Given the description of an element on the screen output the (x, y) to click on. 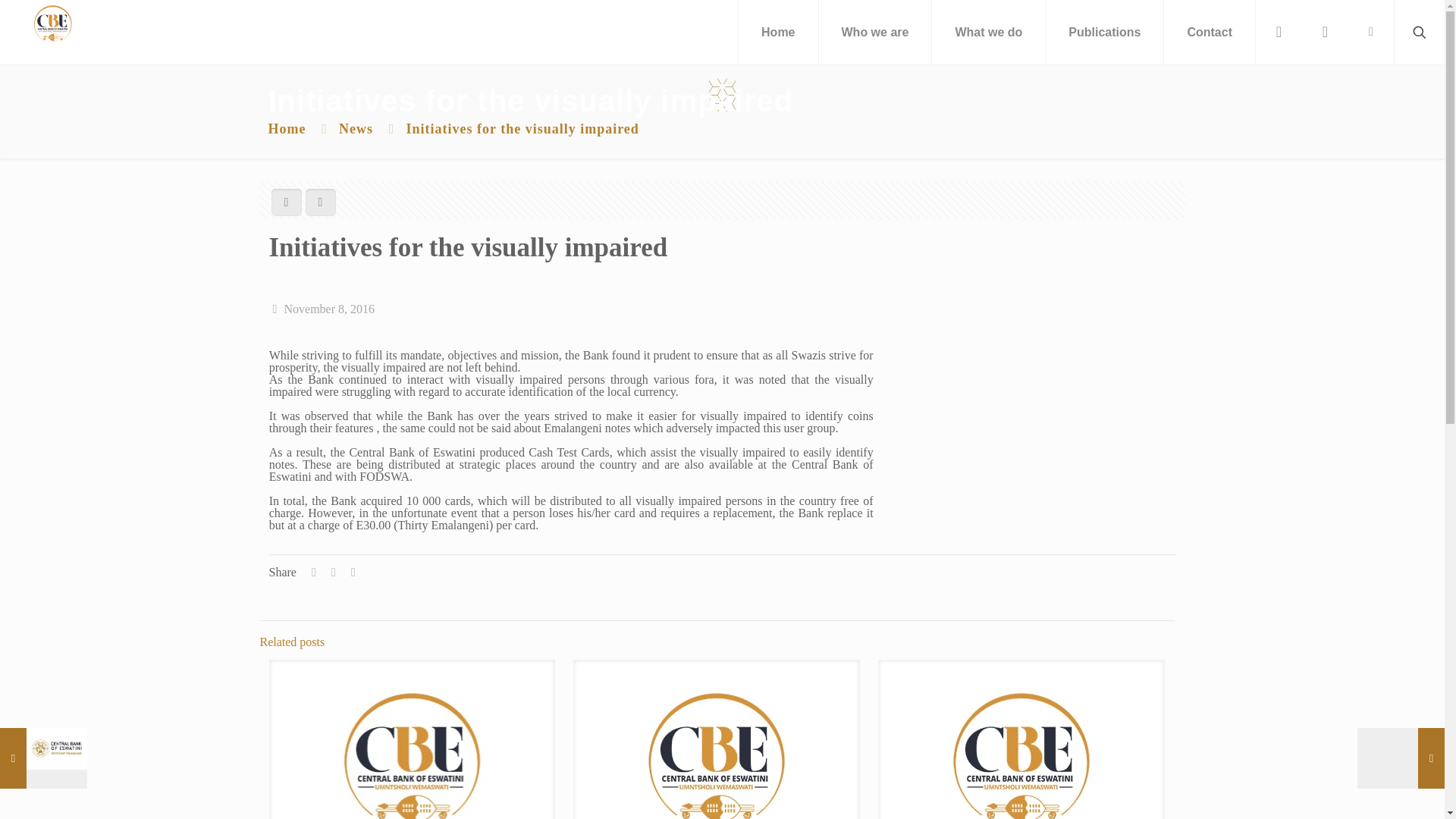
Who we are (875, 32)
Publications (1104, 32)
What we do (988, 32)
Home (778, 32)
Central Bank (52, 22)
